Given the description of an element on the screen output the (x, y) to click on. 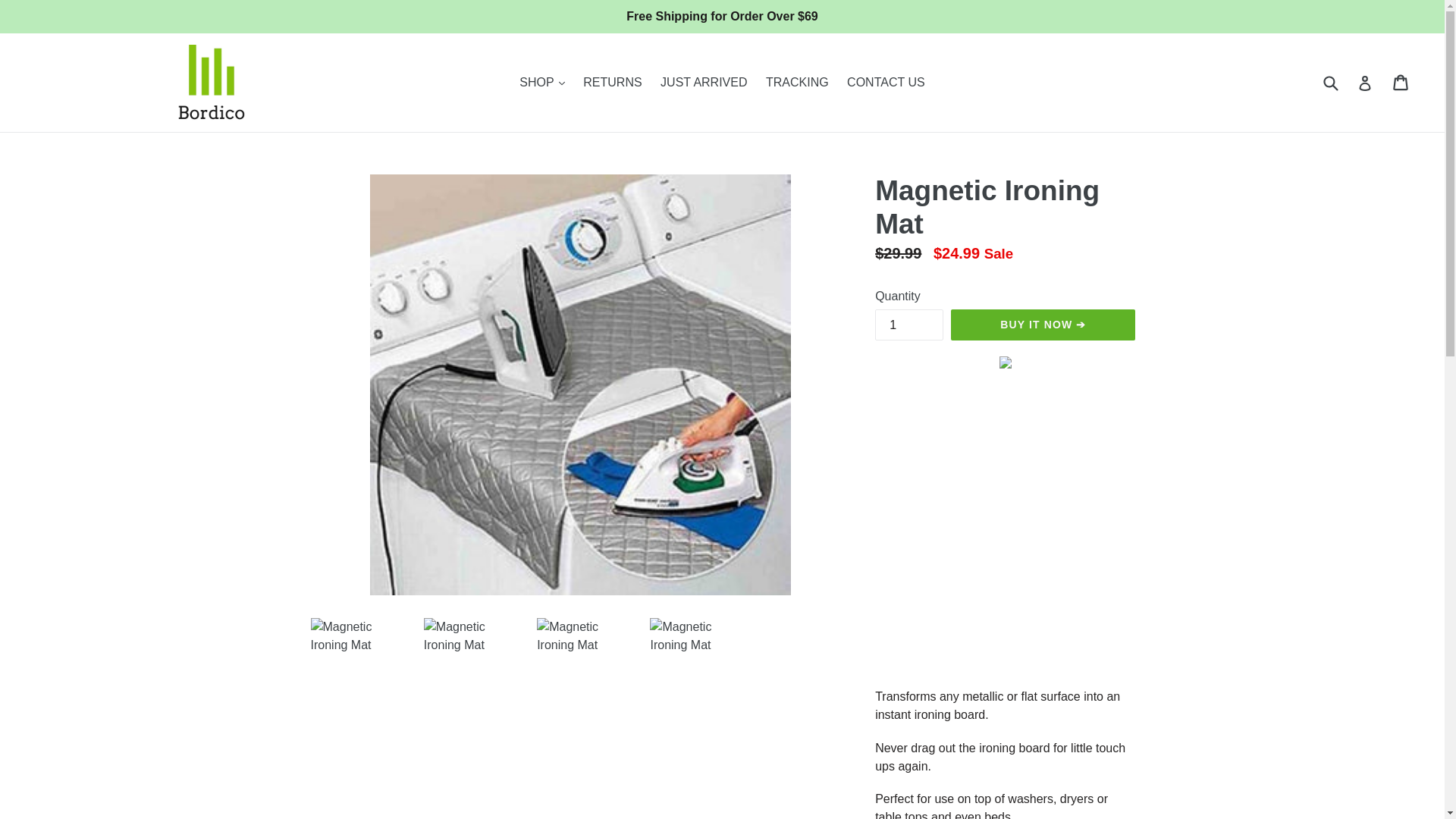
RETURNS (612, 82)
JUST ARRIVED (703, 82)
TRACKING (796, 82)
CONTACT US (886, 82)
1 (909, 324)
